Given the description of an element on the screen output the (x, y) to click on. 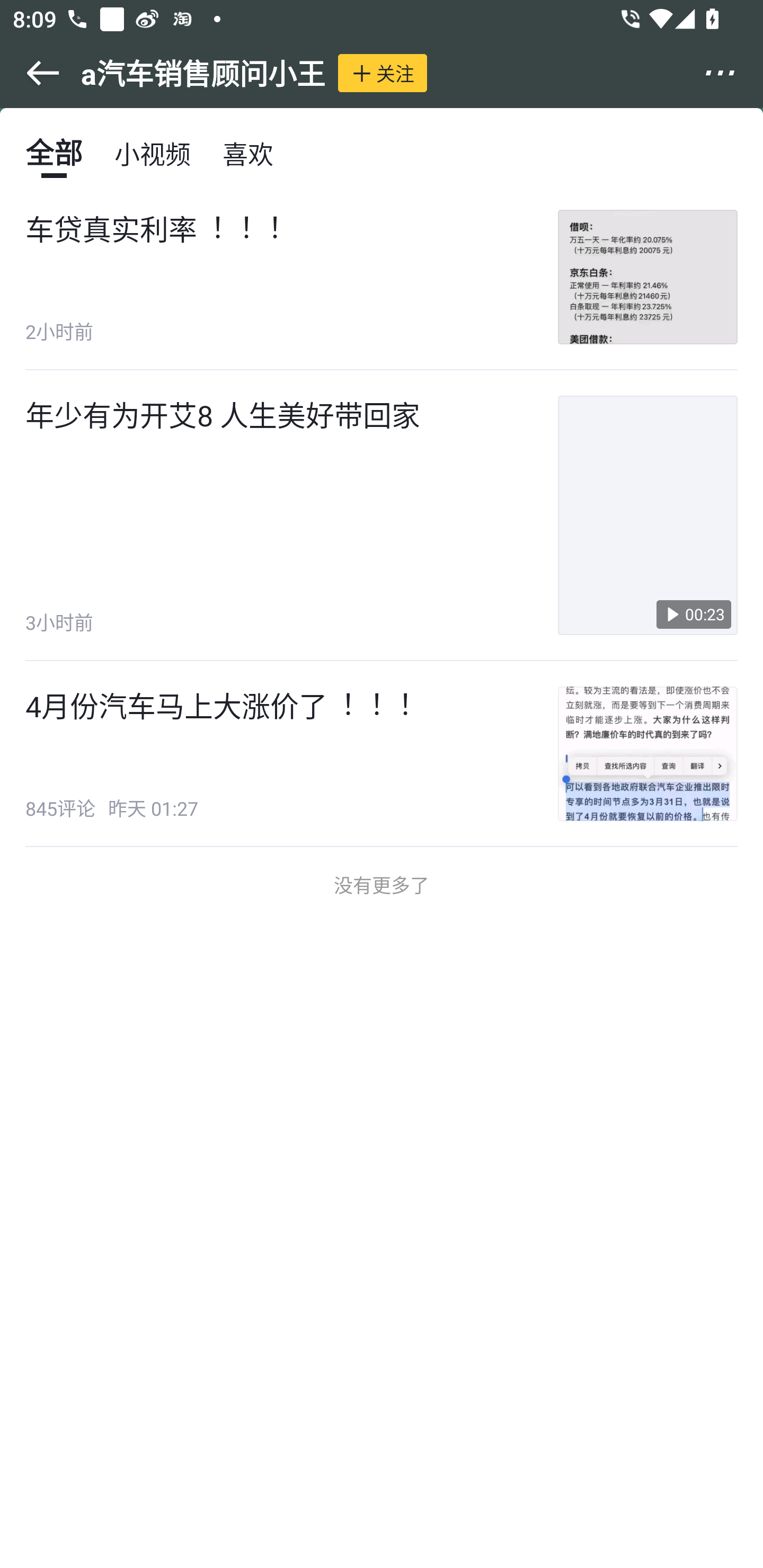
 (30, 72)
 (732, 72)
 关注 (382, 72)
全部 (53, 152)
小视频 (152, 152)
喜欢 (247, 152)
车贷真实利率︕︕︕ 2小时前 (381, 277)
车贷真实利率︕︕︕ (154, 228)
年少有为开艾8 人生美好带回家 3小时前  00:23 (381, 515)
年少有为开艾8 人生美好带回家 (222, 414)
4月份汽车马上大涨价了︕︕︕ 845评论 昨天 01:27 (381, 753)
4月份汽车马上大涨价了︕︕︕ (219, 705)
